Given the description of an element on the screen output the (x, y) to click on. 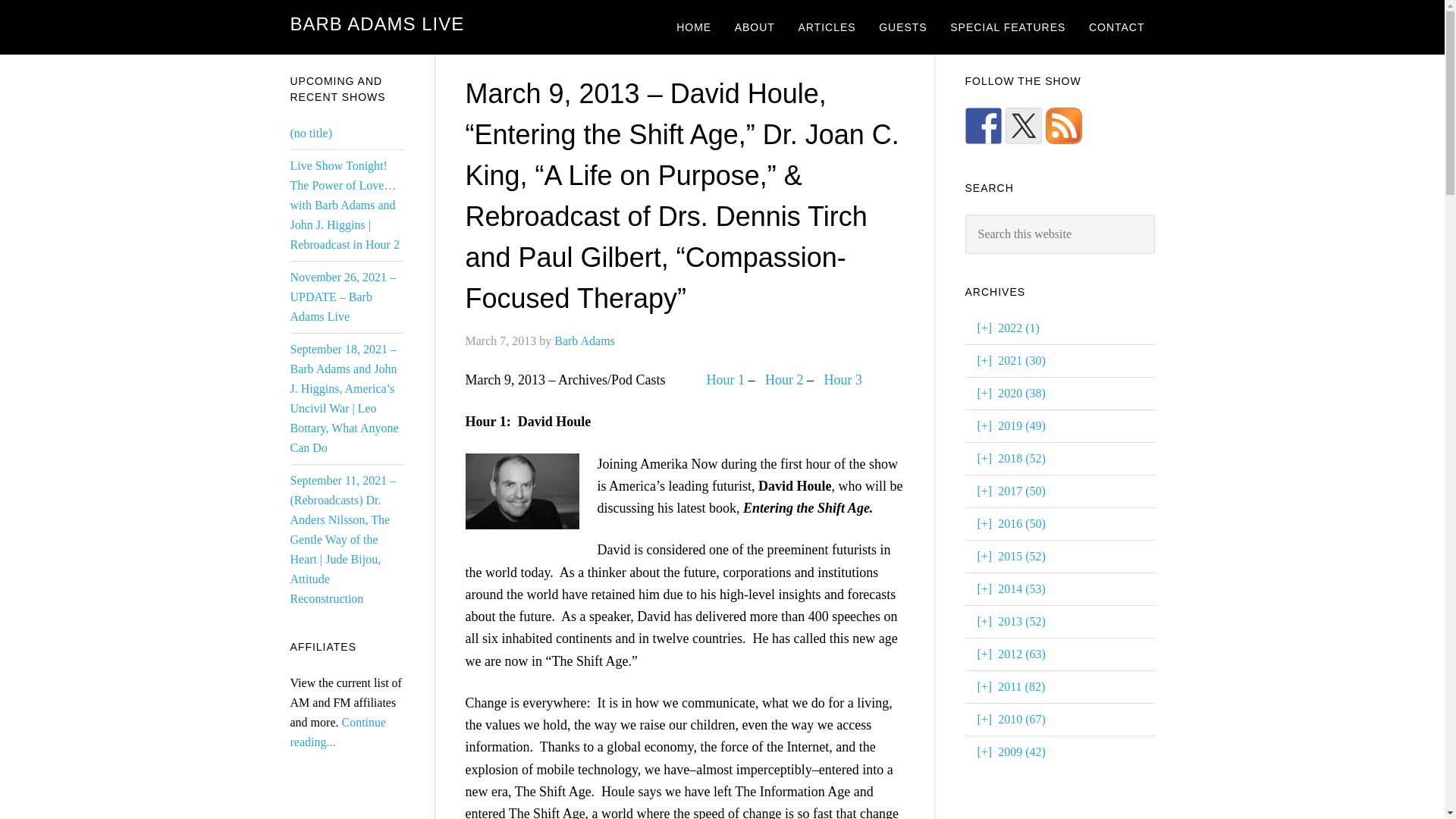
ARTICLES (825, 27)
Hour 2 (784, 379)
CONTACT (1116, 27)
Hour 1 (727, 379)
ABOUT (754, 27)
Hour 3 (842, 379)
DavidHoulePHOTO (522, 491)
BARB ADAMS LIVE (376, 23)
SPECIAL FEATURES (1007, 27)
Barb Adams (584, 340)
HOME (693, 27)
GUESTS (903, 27)
